Given the description of an element on the screen output the (x, y) to click on. 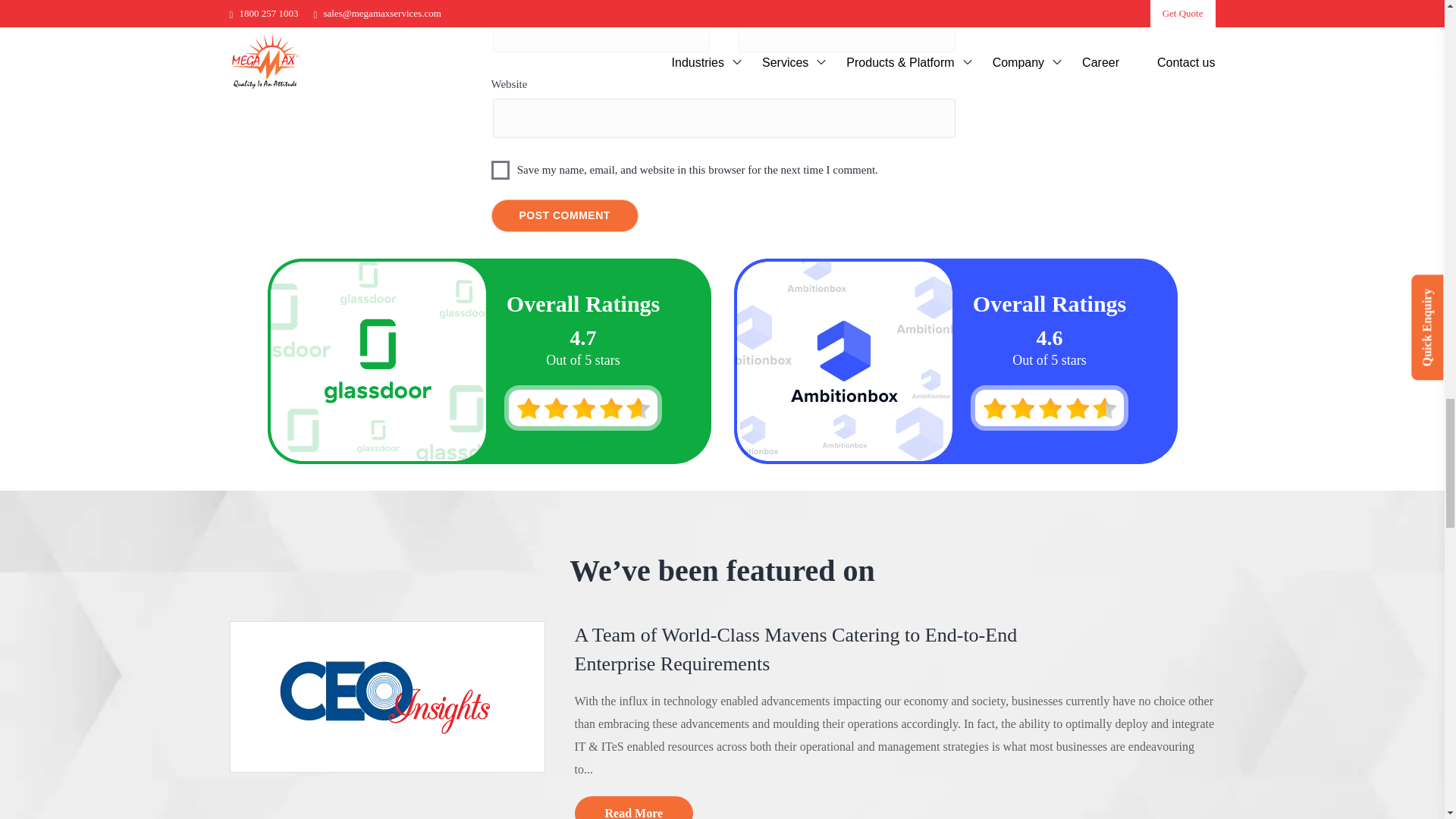
Post Comment (565, 215)
yes (500, 169)
